Given the description of an element on the screen output the (x, y) to click on. 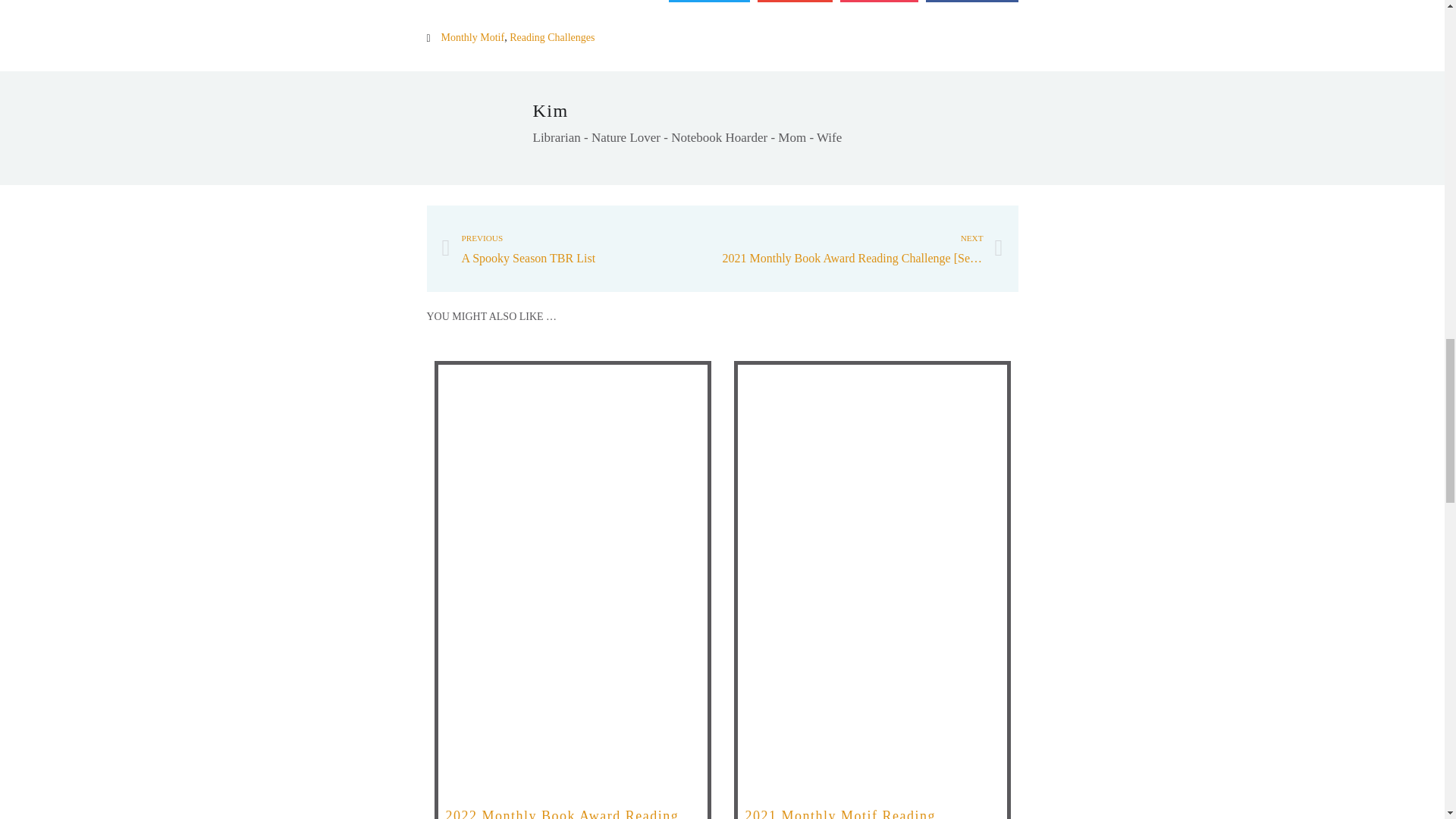
Reading Challenges (551, 37)
Monthly Motif (581, 248)
